Given the description of an element on the screen output the (x, y) to click on. 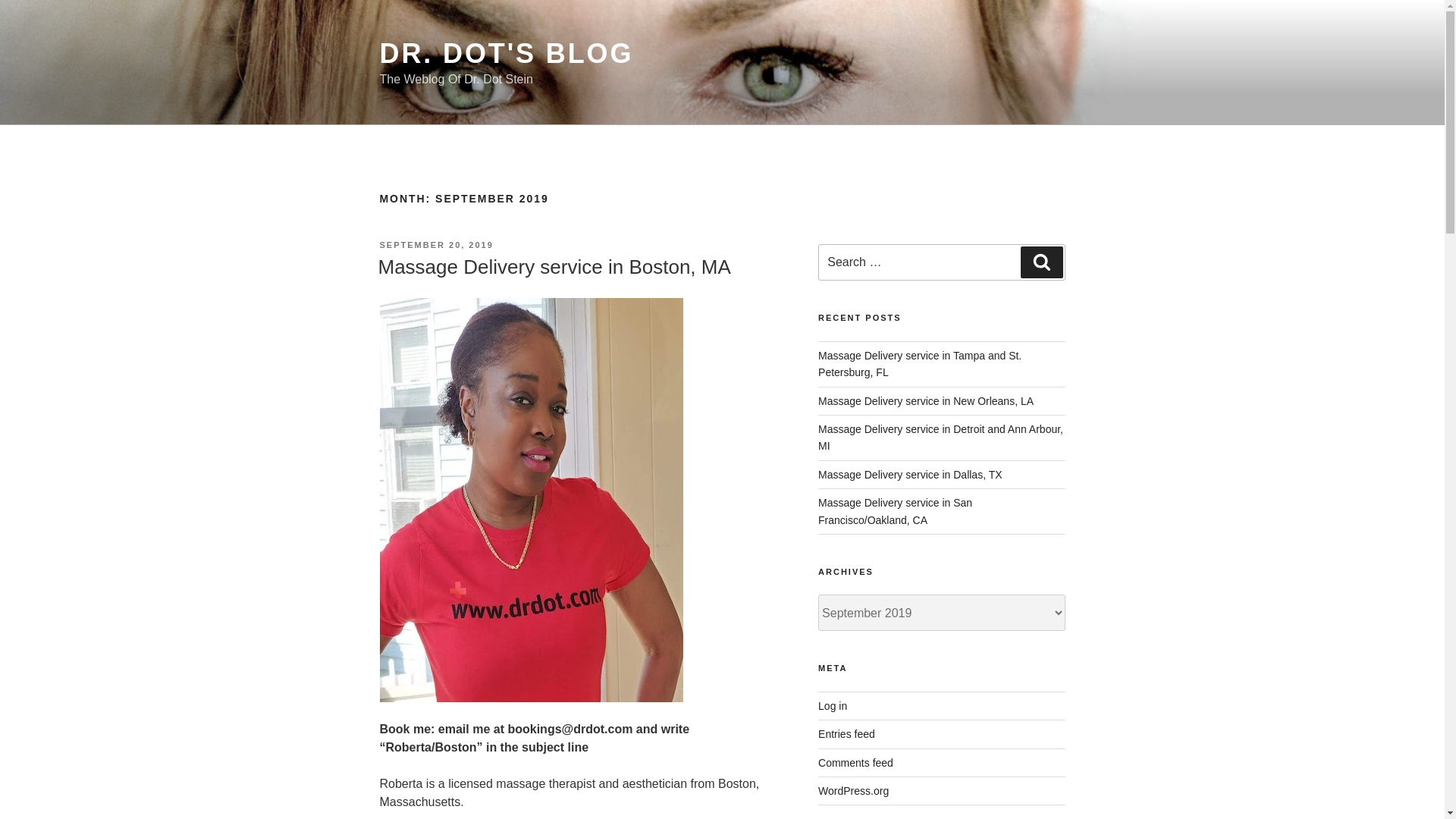
WordPress.org (853, 790)
Massage Delivery service in Dallas, TX (910, 474)
Massage Delivery service in Detroit and Ann Arbour, MI (940, 437)
Search (1041, 262)
Massage Delivery service in Boston, MA (553, 266)
Massage Delivery service in New Orleans, LA (925, 400)
DR. DOT'S BLOG (505, 52)
Comments feed (855, 762)
SEPTEMBER 20, 2019 (435, 244)
Massage Delivery service in Tampa and St. Petersburg, FL (920, 363)
Entries feed (846, 734)
Log in (832, 705)
